Given the description of an element on the screen output the (x, y) to click on. 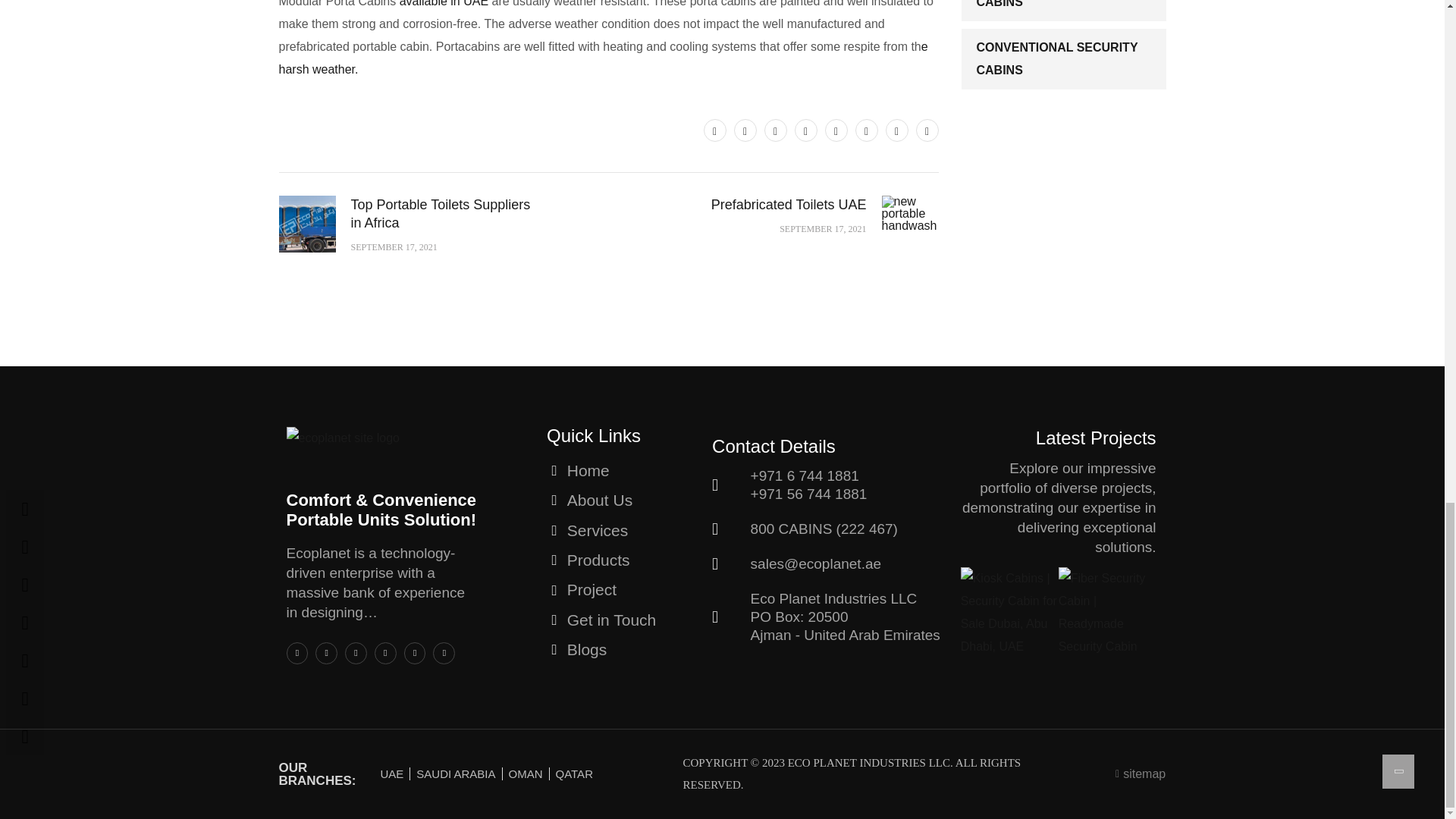
Twitter (714, 129)
Pinterest (775, 129)
Facebook (745, 129)
Reddit (896, 129)
Google Plus (836, 129)
VK (927, 129)
LinkedIn (805, 129)
Tumblr (866, 129)
